Given the description of an element on the screen output the (x, y) to click on. 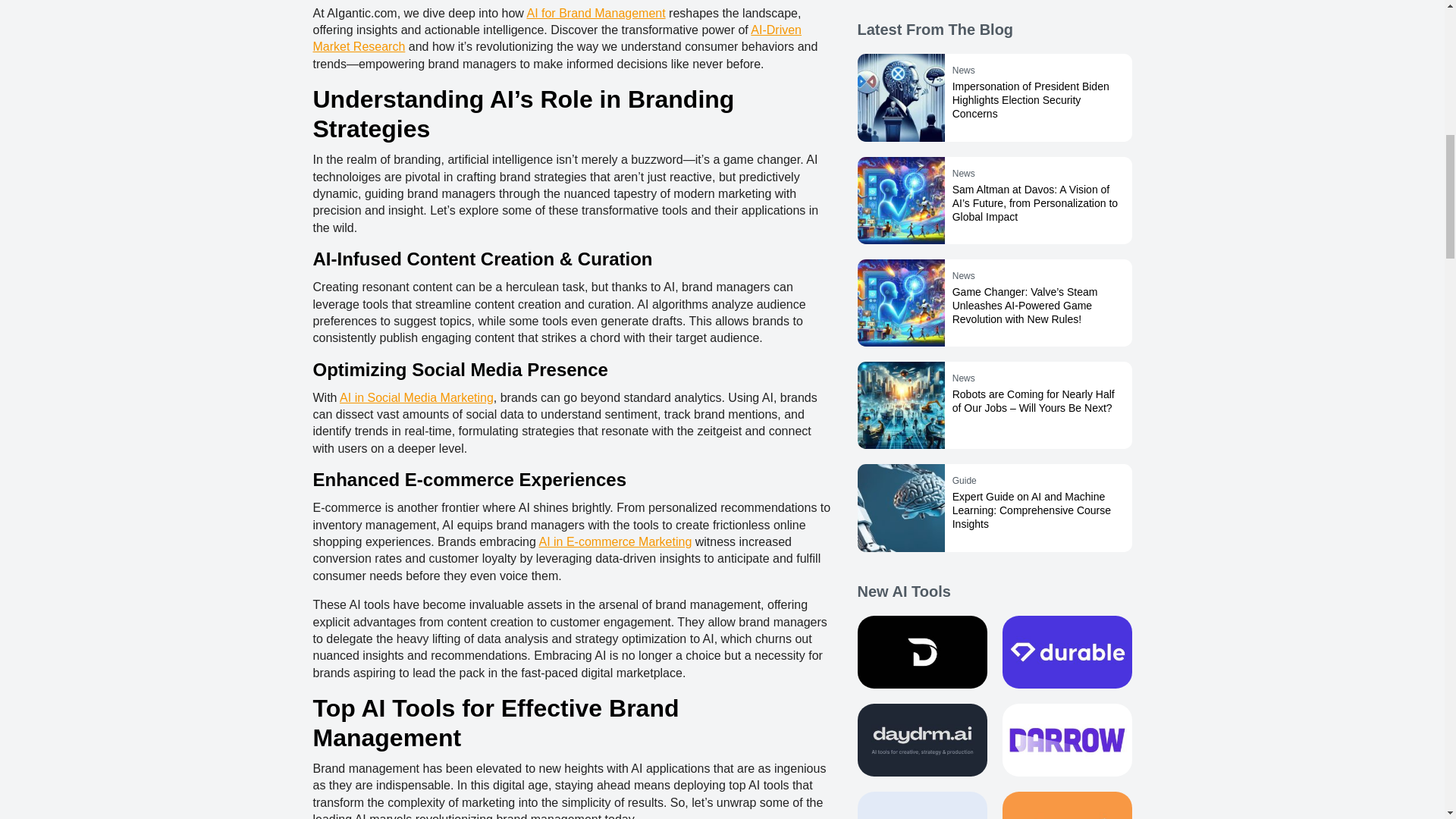
AI-Driven Market Research (557, 38)
AI in E-commerce Marketing (614, 541)
AI for Brand Management (595, 12)
AI in Social Media Marketing (416, 397)
